Given the description of an element on the screen output the (x, y) to click on. 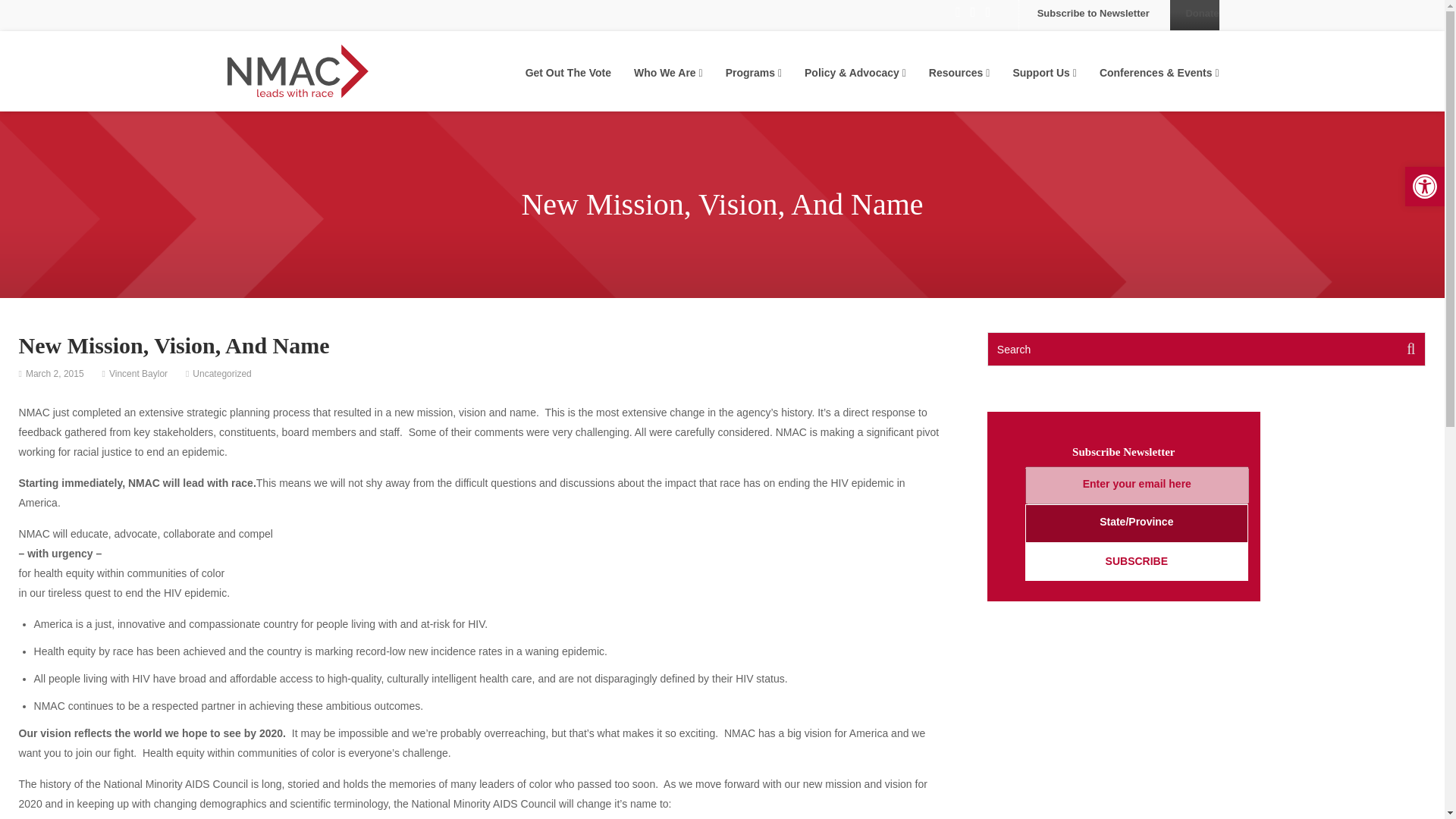
Get Out The Vote (568, 72)
Accessibility Tools (1424, 186)
Subscribe to Newsletter (1093, 12)
Programs (753, 72)
NMAC (298, 67)
Programs (753, 72)
Who We Are (1424, 186)
Who We Are (668, 72)
Accessibility Tools (668, 72)
